Given the description of an element on the screen output the (x, y) to click on. 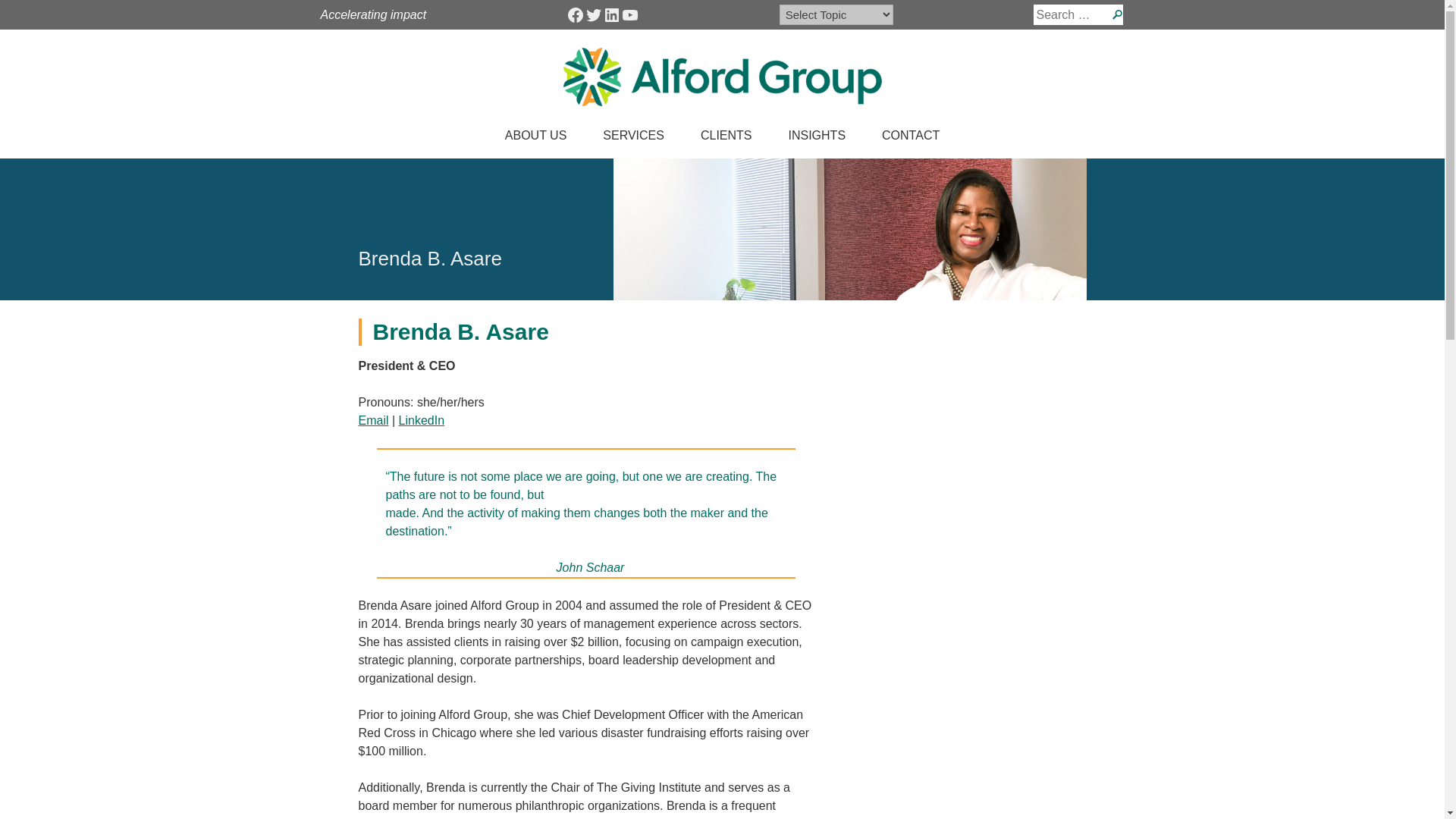
Email (373, 420)
Facebook (575, 14)
CONTACT (910, 137)
Twitter (593, 14)
INSIGHTS (817, 137)
LinkedIn (421, 420)
YouTube (630, 14)
CLIENTS (726, 137)
SERVICES (633, 137)
ABOUT US (535, 137)
LinkedIn (611, 14)
